Given the description of an element on the screen output the (x, y) to click on. 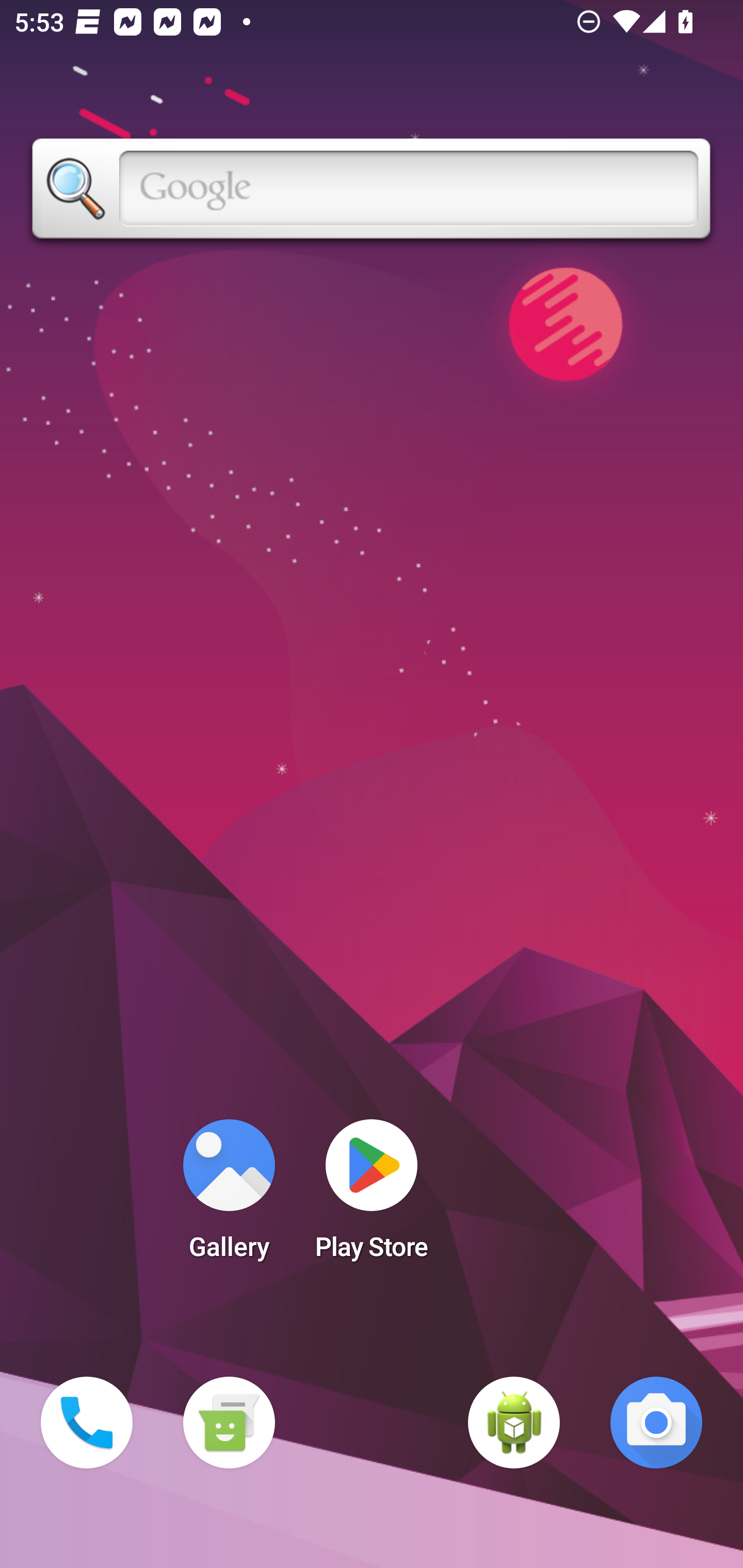
Gallery (228, 1195)
Play Store (371, 1195)
Phone (86, 1422)
Messaging (228, 1422)
WebView Browser Tester (513, 1422)
Camera (656, 1422)
